Given the description of an element on the screen output the (x, y) to click on. 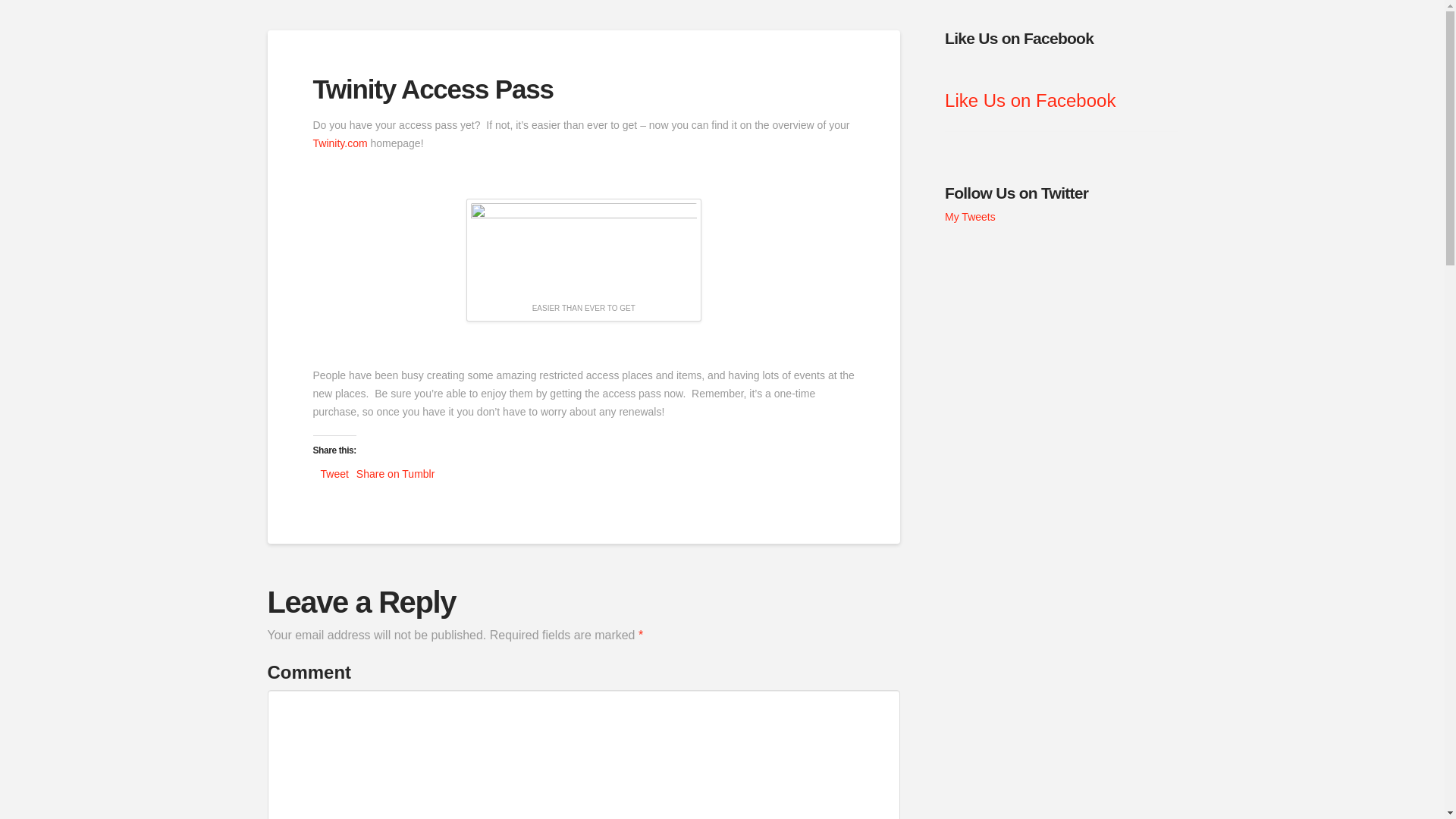
Like Us on Facebook (1029, 100)
Like Us on Facebook (1018, 37)
Twinity.com (339, 143)
Share on Tumblr (395, 473)
Share on Tumblr (395, 473)
My Tweets (969, 216)
Tweet (333, 473)
Access Pass Button (583, 249)
Twinity.com homepage (339, 143)
